Given the description of an element on the screen output the (x, y) to click on. 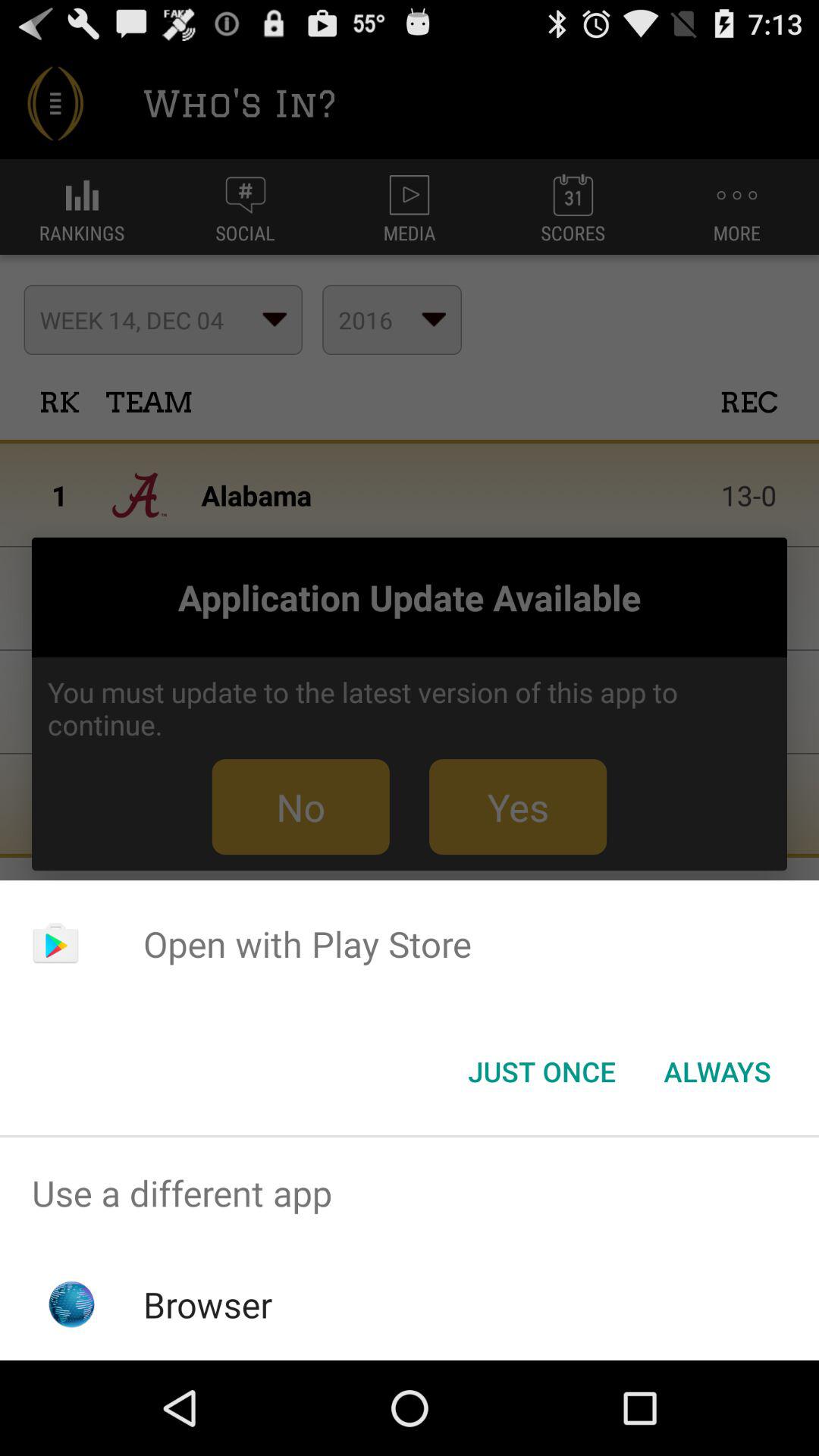
jump until the always item (717, 1071)
